Given the description of an element on the screen output the (x, y) to click on. 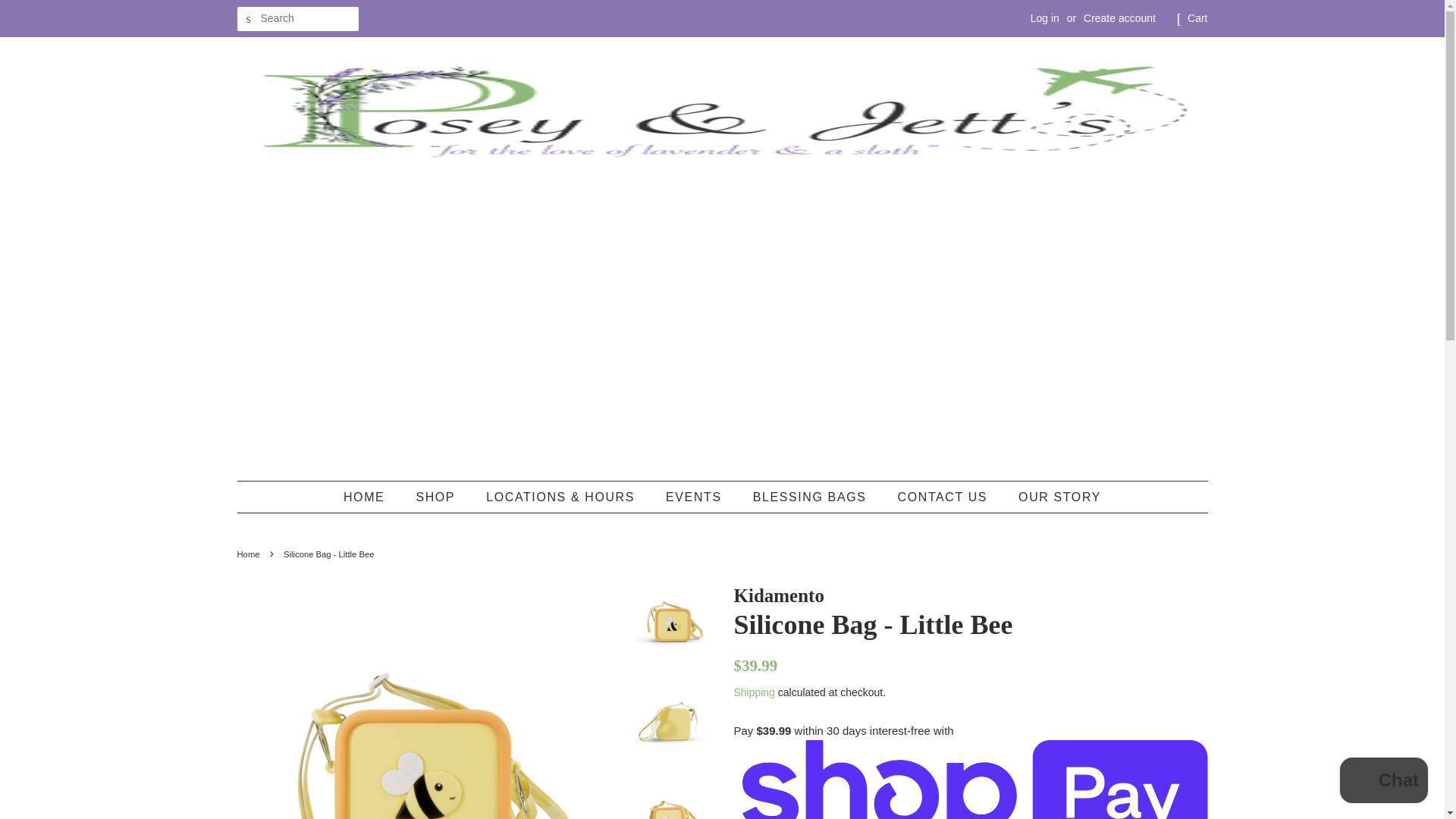
Create account (1119, 18)
Shopify online store chat (1383, 781)
Home (249, 553)
Shipping (753, 692)
Back to the frontpage (249, 553)
CONTACT US (944, 496)
OUR STORY (1053, 496)
SHOP (437, 496)
Log in (1044, 18)
EVENTS (694, 496)
